Given the description of an element on the screen output the (x, y) to click on. 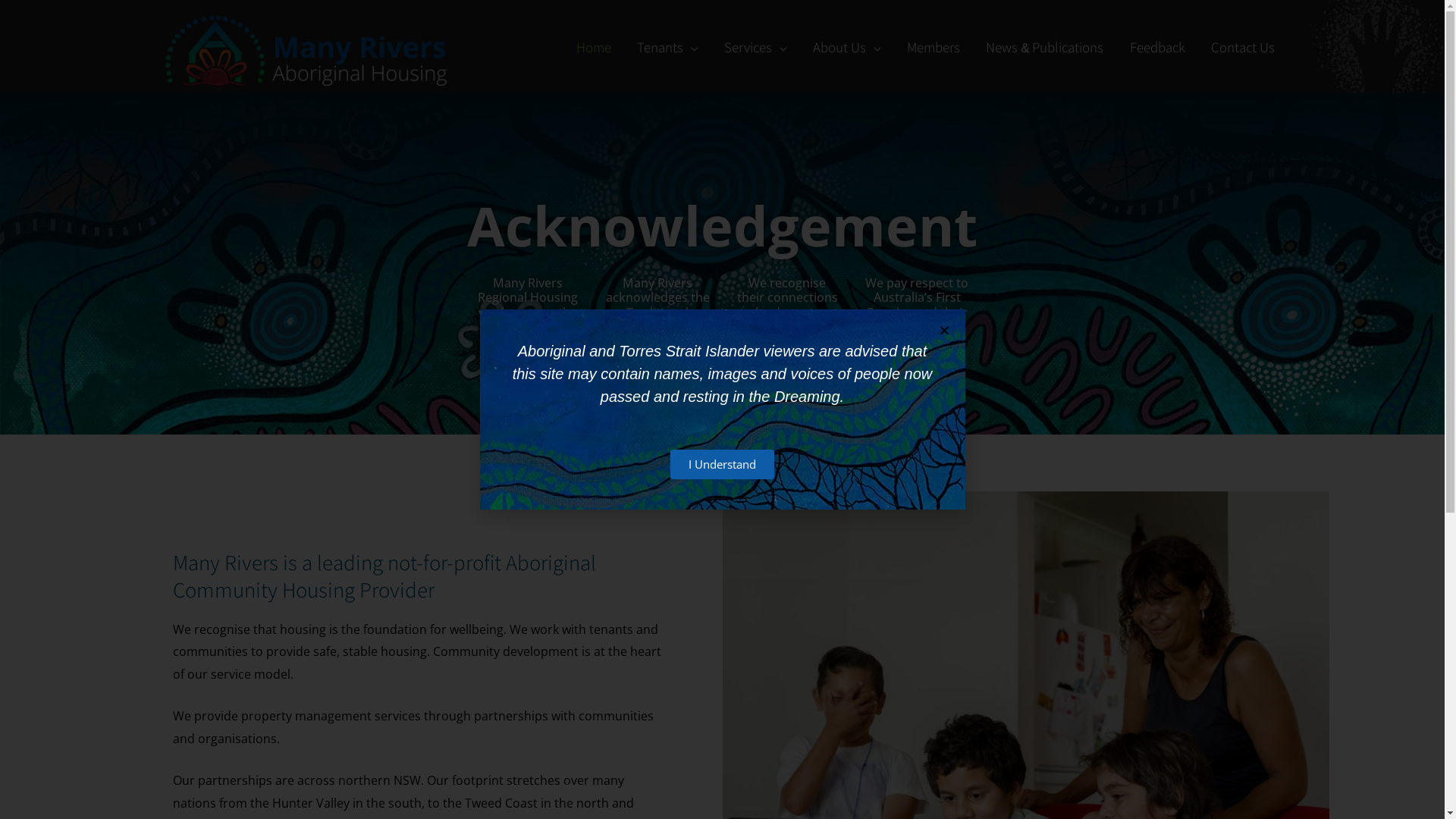
News & Publications Element type: text (1044, 46)
About Us Element type: text (847, 46)
Feedback Element type: text (1156, 46)
I Understand Element type: text (722, 464)
Members Element type: text (933, 46)
Tenants Element type: text (667, 46)
Home Element type: text (593, 46)
Services Element type: text (755, 46)
Contact Us Element type: text (1242, 46)
